Given the description of an element on the screen output the (x, y) to click on. 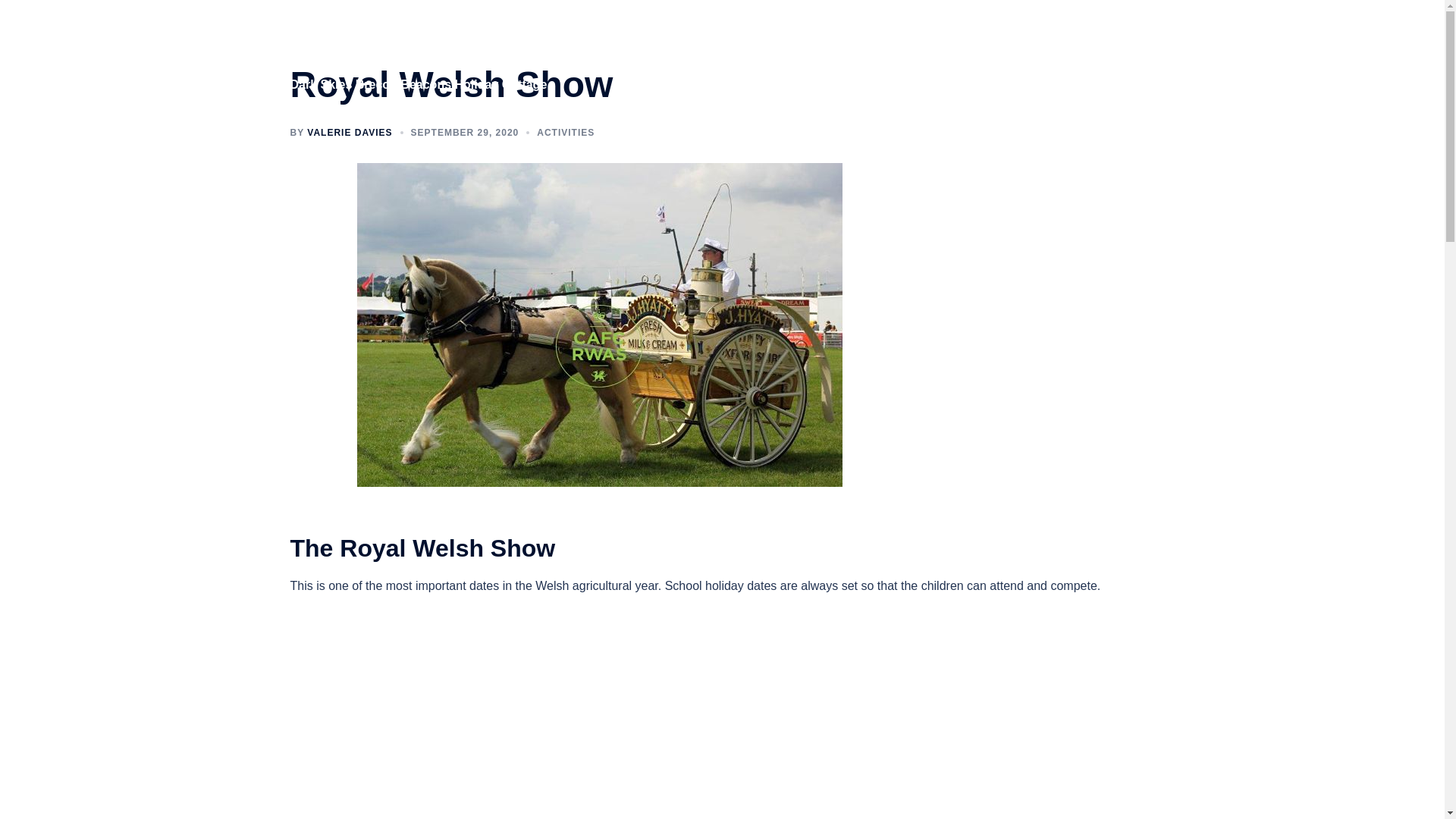
Brecon Beacons (987, 54)
VALERIE DAVIES (349, 132)
Gallery (910, 54)
ACTIVITIES (565, 132)
Find Us (1066, 54)
Aberyscir Coach House (385, 43)
About Us (850, 54)
Coach House (775, 54)
SEPTEMBER 29, 2020 (464, 132)
Booking (1124, 54)
Home (708, 54)
